Given the description of an element on the screen output the (x, y) to click on. 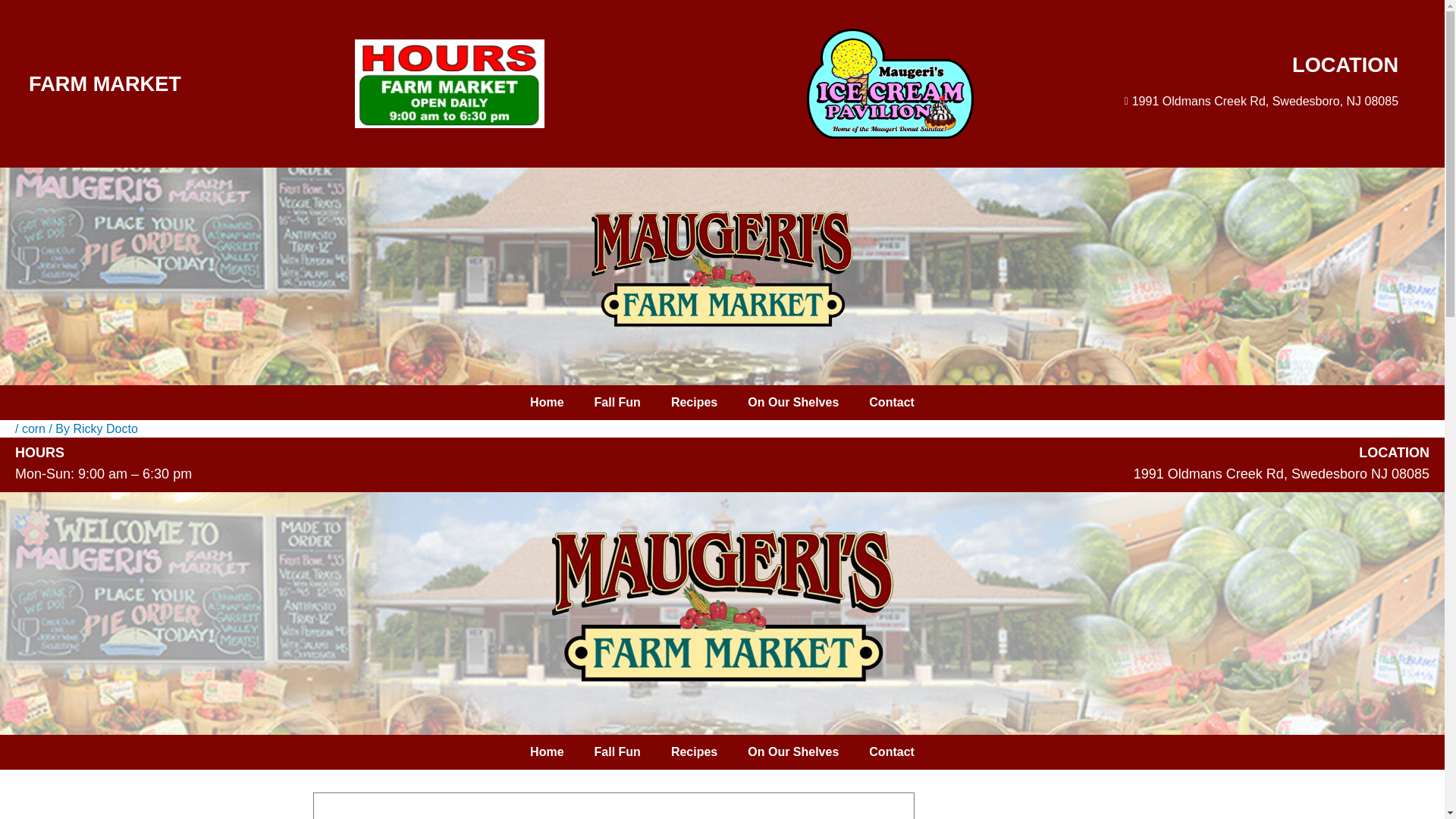
On Our Shelves (792, 751)
Fall Fun (617, 402)
Fall Fun (617, 751)
Home (546, 751)
Contact (891, 751)
On Our Shelves (792, 402)
corn (33, 428)
Recipes (694, 402)
Ricky Docto (104, 428)
maugeri-market-fixed (722, 605)
Recipes (694, 751)
Contact (891, 402)
Home (546, 402)
View all posts by Ricky Docto (104, 428)
